Given the description of an element on the screen output the (x, y) to click on. 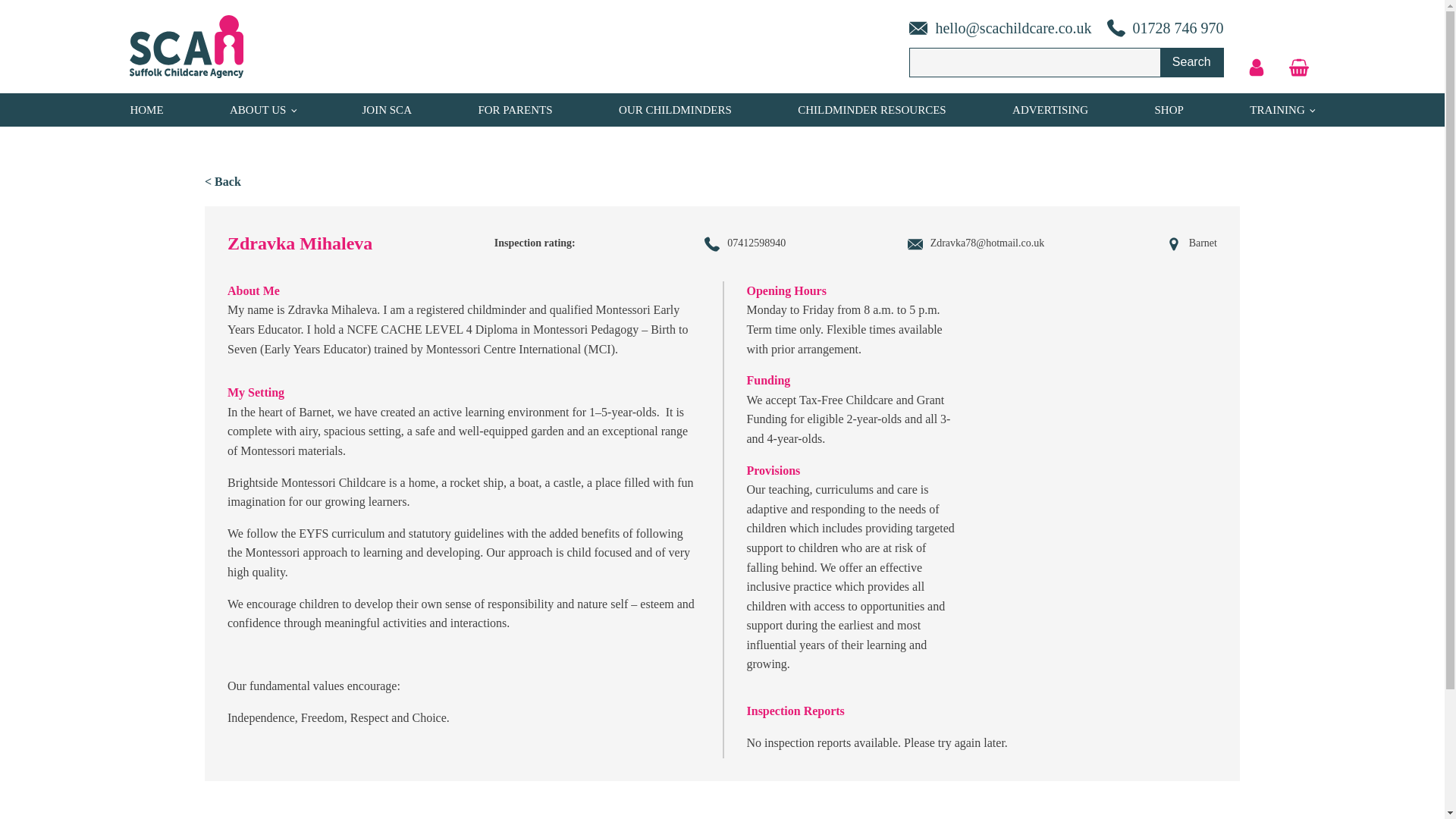
SHOP (1168, 109)
01728 746 970 (1158, 27)
TRAINING (1281, 109)
ABOUT US (262, 109)
ADVERTISING (1049, 109)
FOR PARENTS (514, 109)
JOIN SCA (387, 109)
OUR CHILDMINDERS (675, 109)
Search (1191, 62)
CHILDMINDER RESOURCES (870, 109)
HOME (146, 109)
Search (1191, 62)
